Given the description of an element on the screen output the (x, y) to click on. 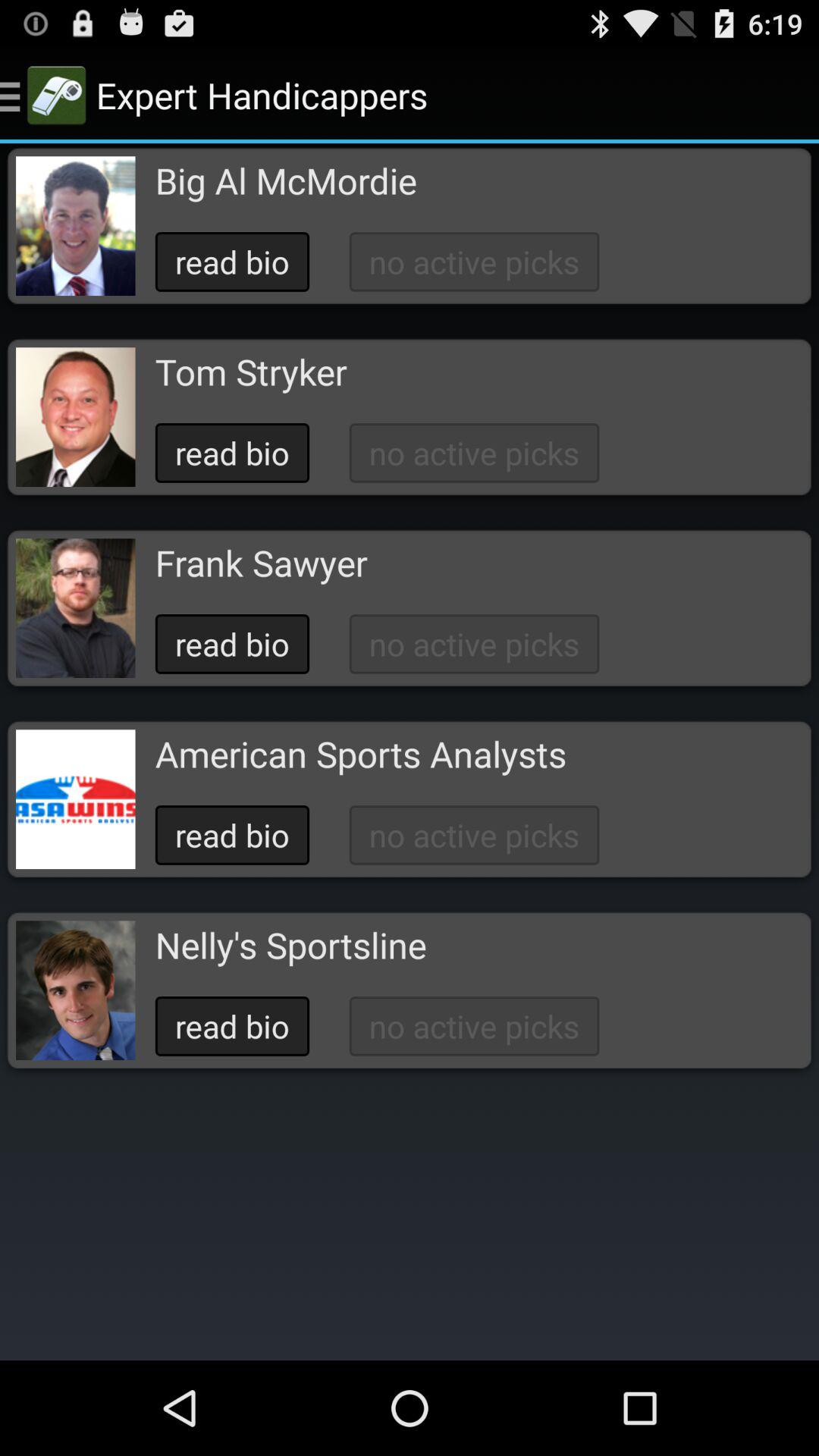
jump to big al mcmordie app (285, 180)
